Given the description of an element on the screen output the (x, y) to click on. 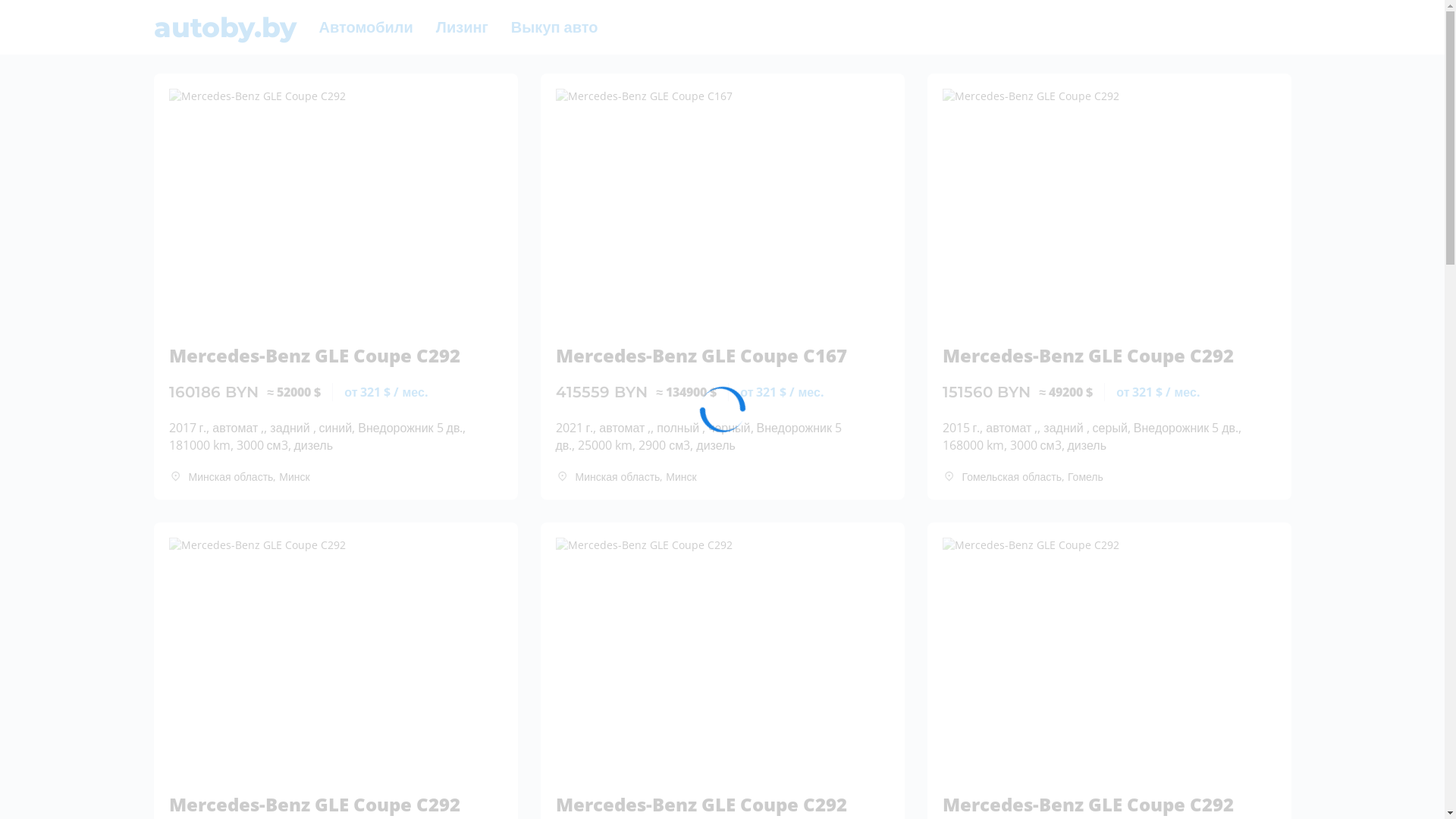
autoby.by Element type: text (224, 27)
Mercedes-Benz GLE Coupe C292 Element type: text (1093, 796)
Mercedes-Benz GLE Coupe C292 Element type: text (319, 796)
Mercedes-Benz GLE Coupe C167 Element type: text (706, 347)
Mercedes-Benz GLE Coupe C292 Element type: text (319, 347)
Mercedes-Benz GLE Coupe C292 Element type: text (706, 796)
Mercedes-Benz GLE Coupe C292 Element type: text (1093, 347)
